Given the description of an element on the screen output the (x, y) to click on. 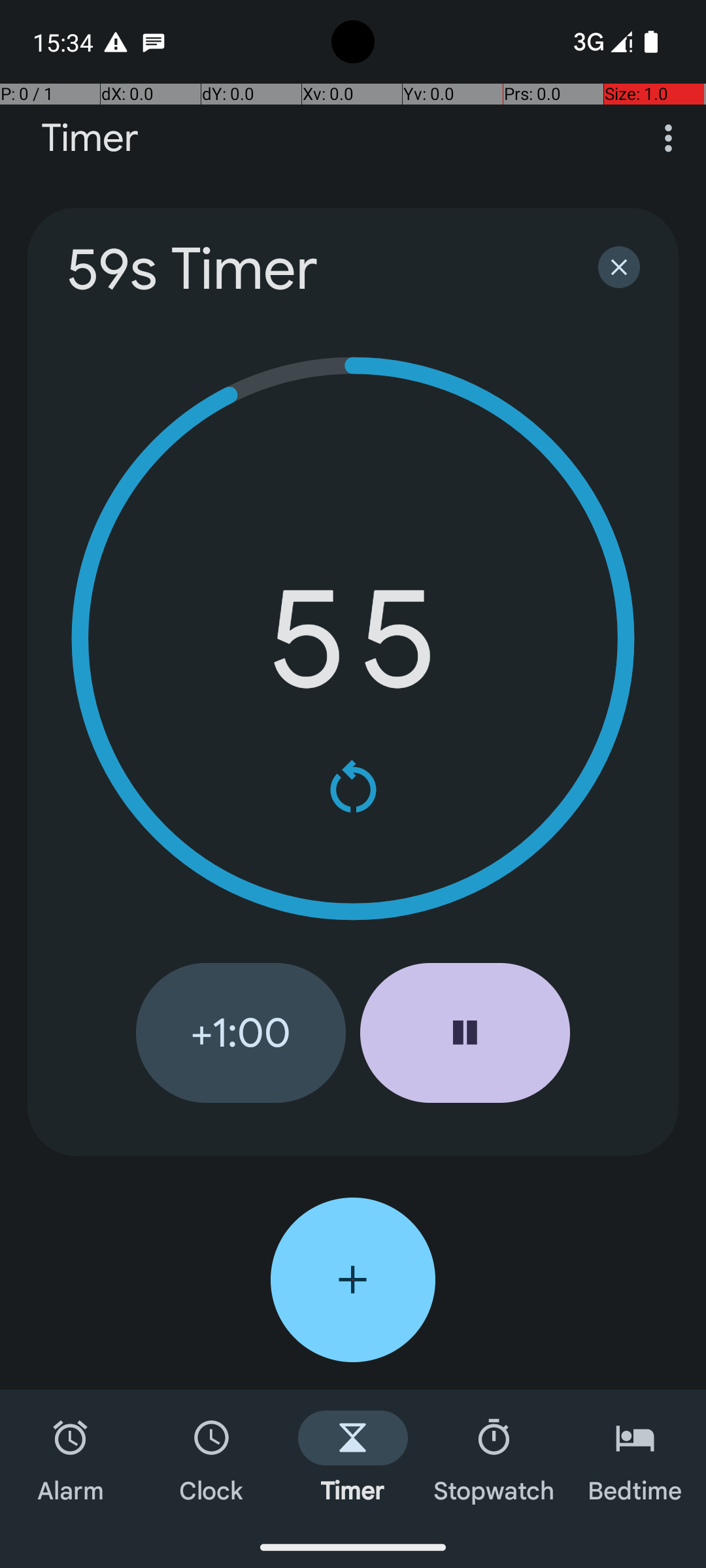
Add timer Element type: android.widget.Button (352, 1279)
59s Timer Element type: android.widget.TextView (315, 269)
55 Element type: android.widget.TextView (352, 638)
+1:00 Element type: android.widget.Button (240, 1032)
Pause Element type: android.widget.Button (465, 1032)
